Given the description of an element on the screen output the (x, y) to click on. 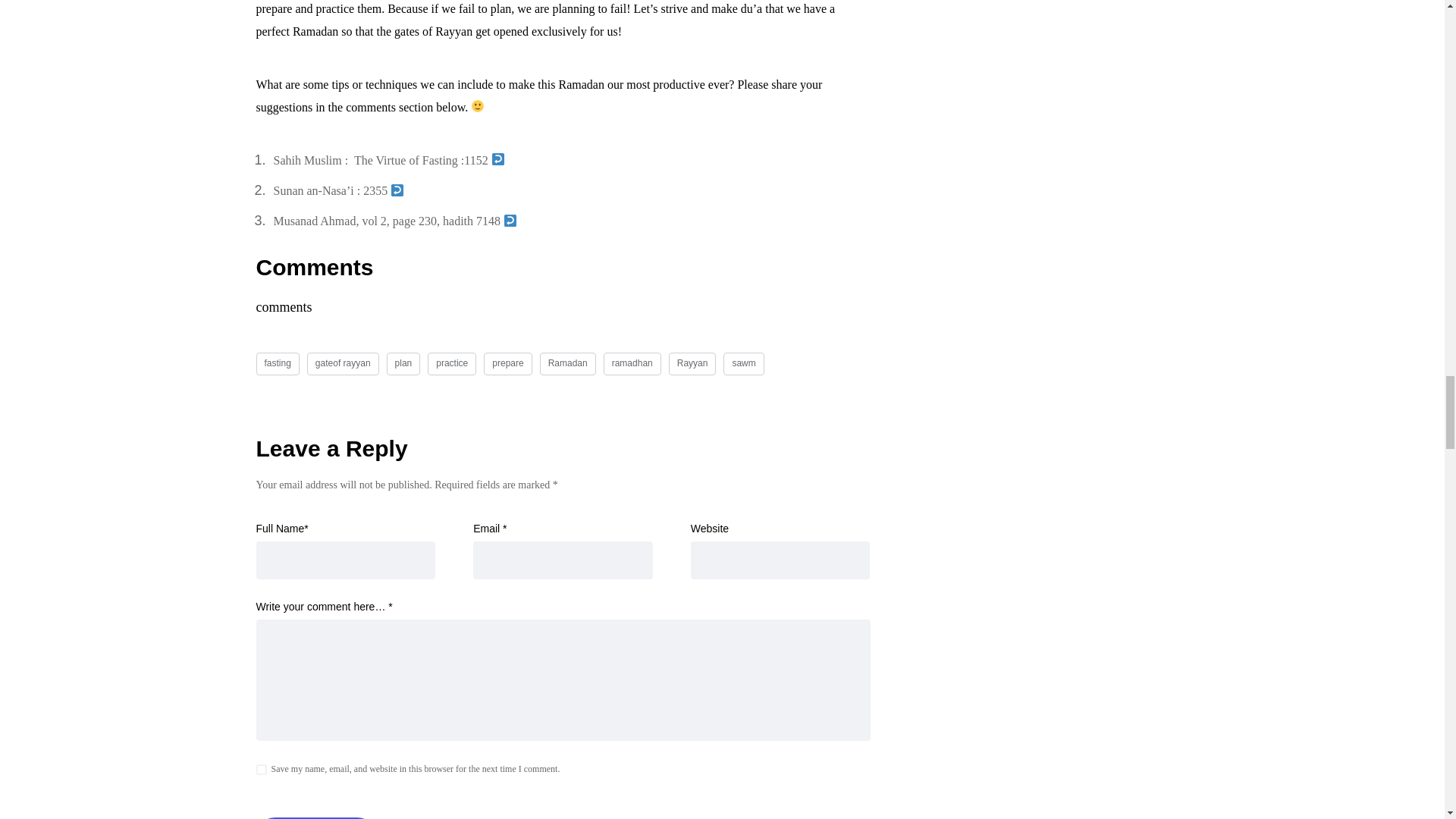
Post Comment (316, 818)
